Given the description of an element on the screen output the (x, y) to click on. 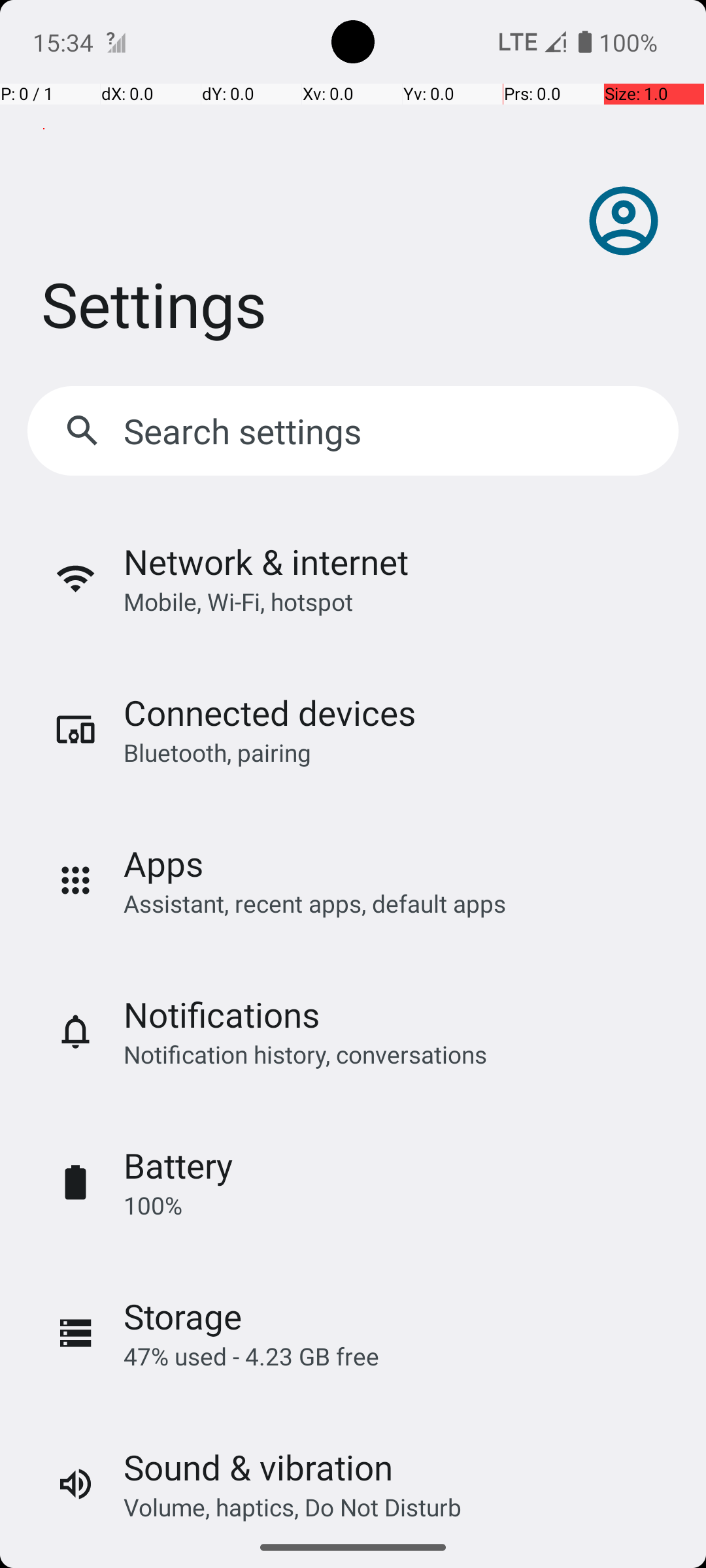
47% used - 4.23 GB free Element type: android.widget.TextView (251, 1355)
